Given the description of an element on the screen output the (x, y) to click on. 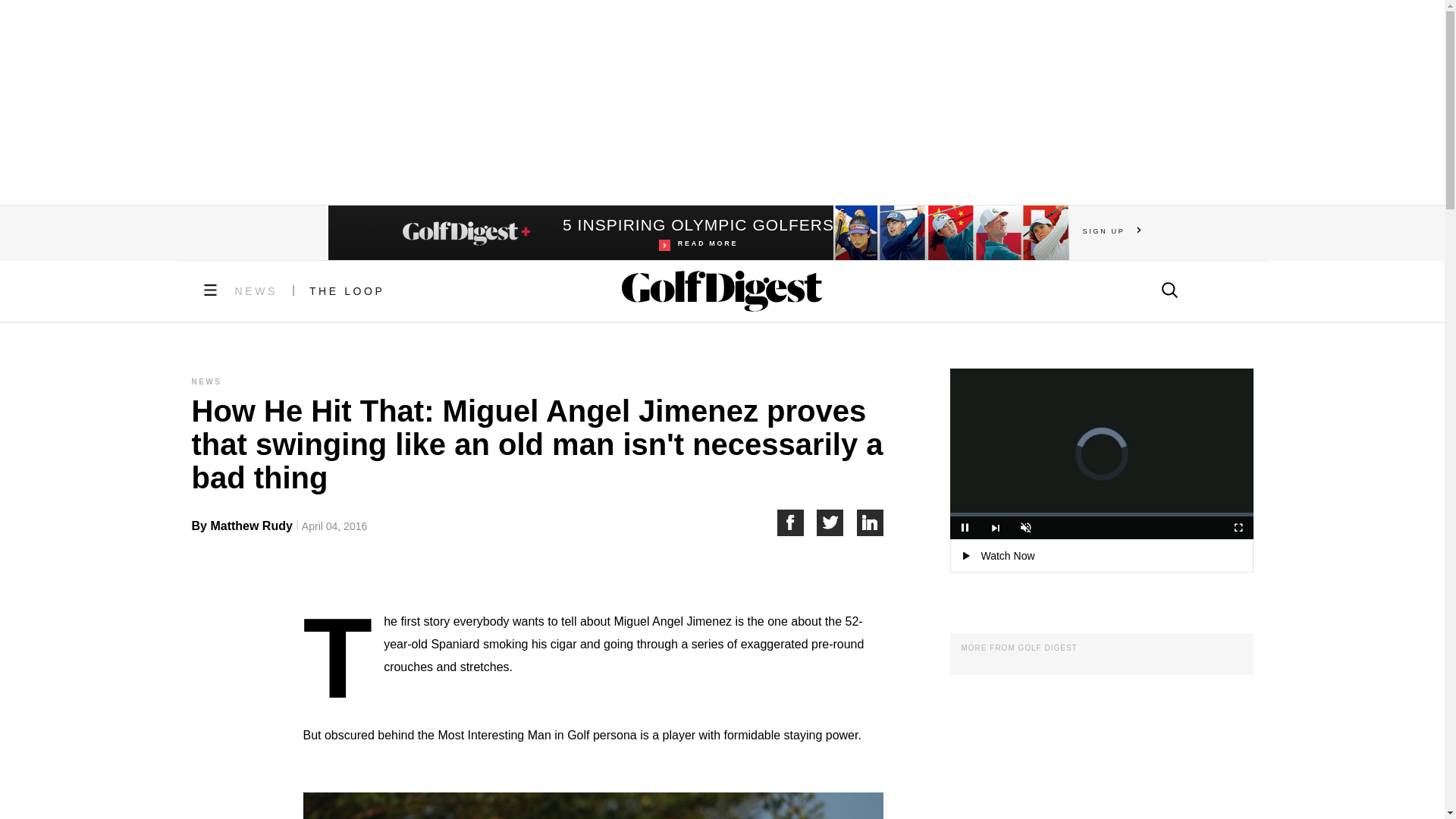
Share on LinkedIn (870, 522)
Share on Twitter (836, 522)
NEWS (256, 291)
Pause (964, 527)
Share on Facebook (796, 522)
Next playlist item (994, 527)
SIGN UP (1112, 230)
THE LOOP (346, 291)
Unmute (697, 232)
